Given the description of an element on the screen output the (x, y) to click on. 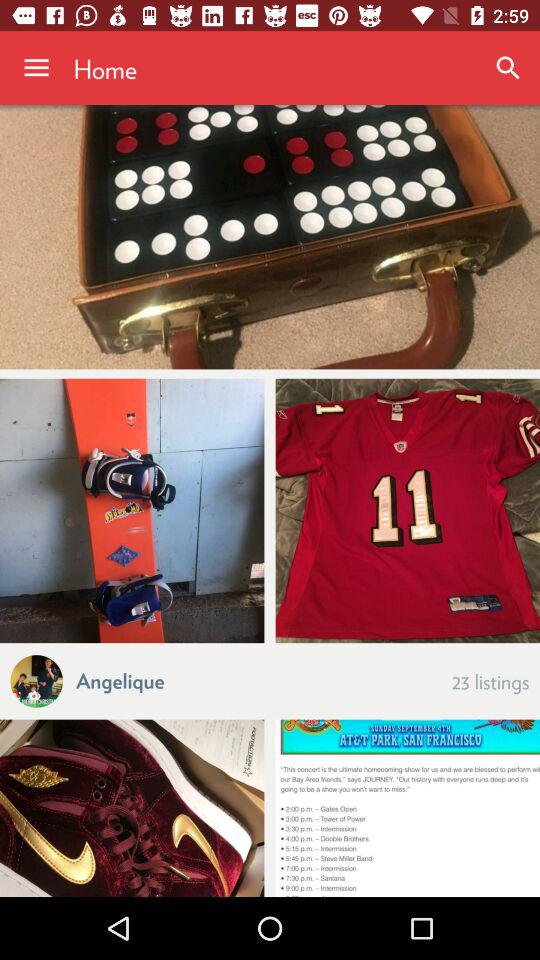
swipe until the 23 listings item (490, 680)
